Given the description of an element on the screen output the (x, y) to click on. 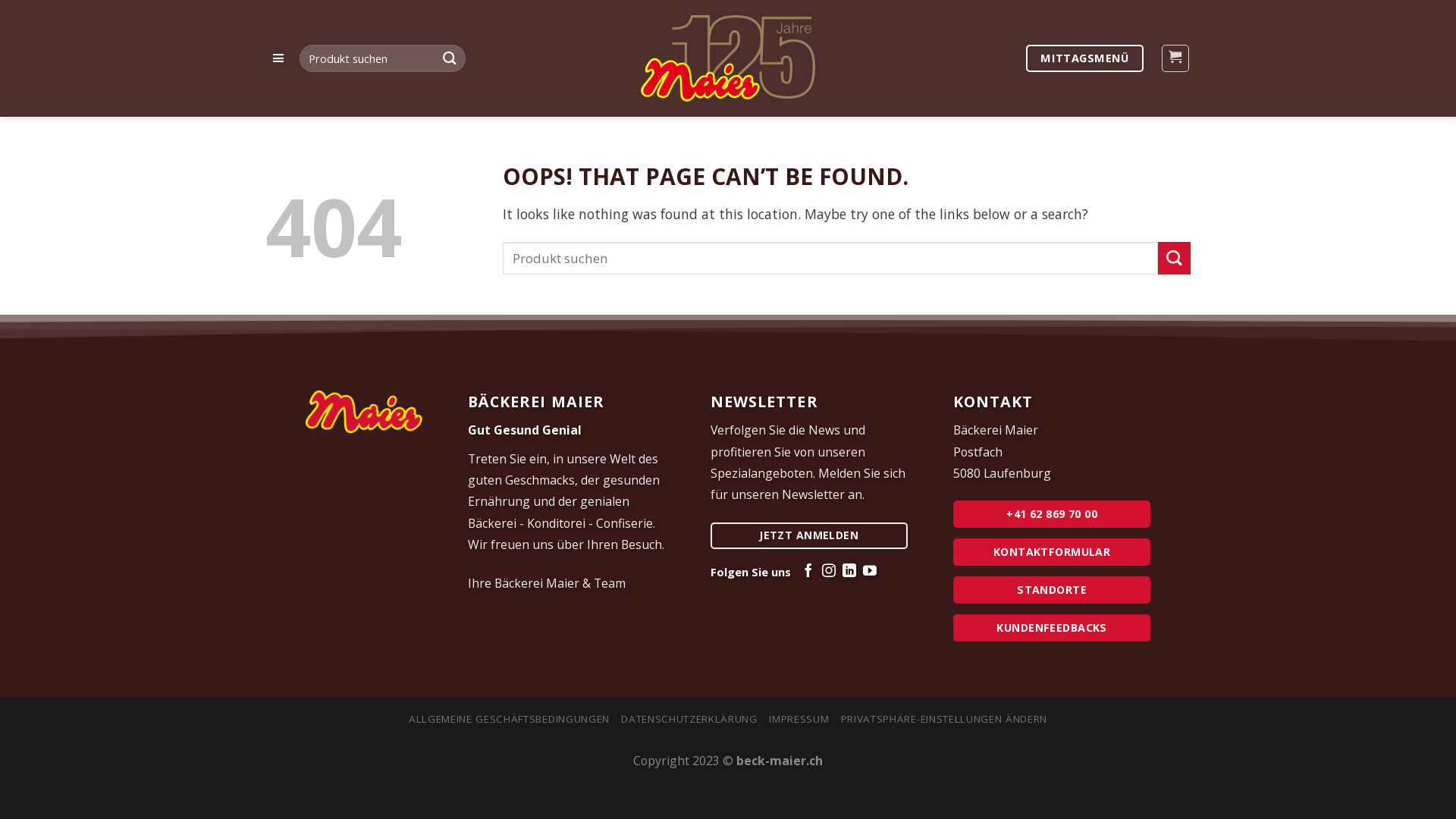
JETZT ANMELDEN Element type: text (808, 535)
KUNDENFEEDBACKS Element type: text (1051, 627)
STANDORTE Element type: text (1051, 589)
Follow on YouTube Element type: hover (869, 571)
Follow on Facebook Element type: hover (808, 571)
Follow on LinkedIn Element type: hover (849, 571)
Suche Element type: text (450, 58)
IMPRESSUM Element type: text (798, 718)
Follow on Instagram Element type: hover (828, 571)
+41 62 869 70 00 Element type: text (1051, 513)
KONTAKTFORMULAR Element type: text (1051, 551)
Warenkorb Element type: hover (1175, 57)
